Given the description of an element on the screen output the (x, y) to click on. 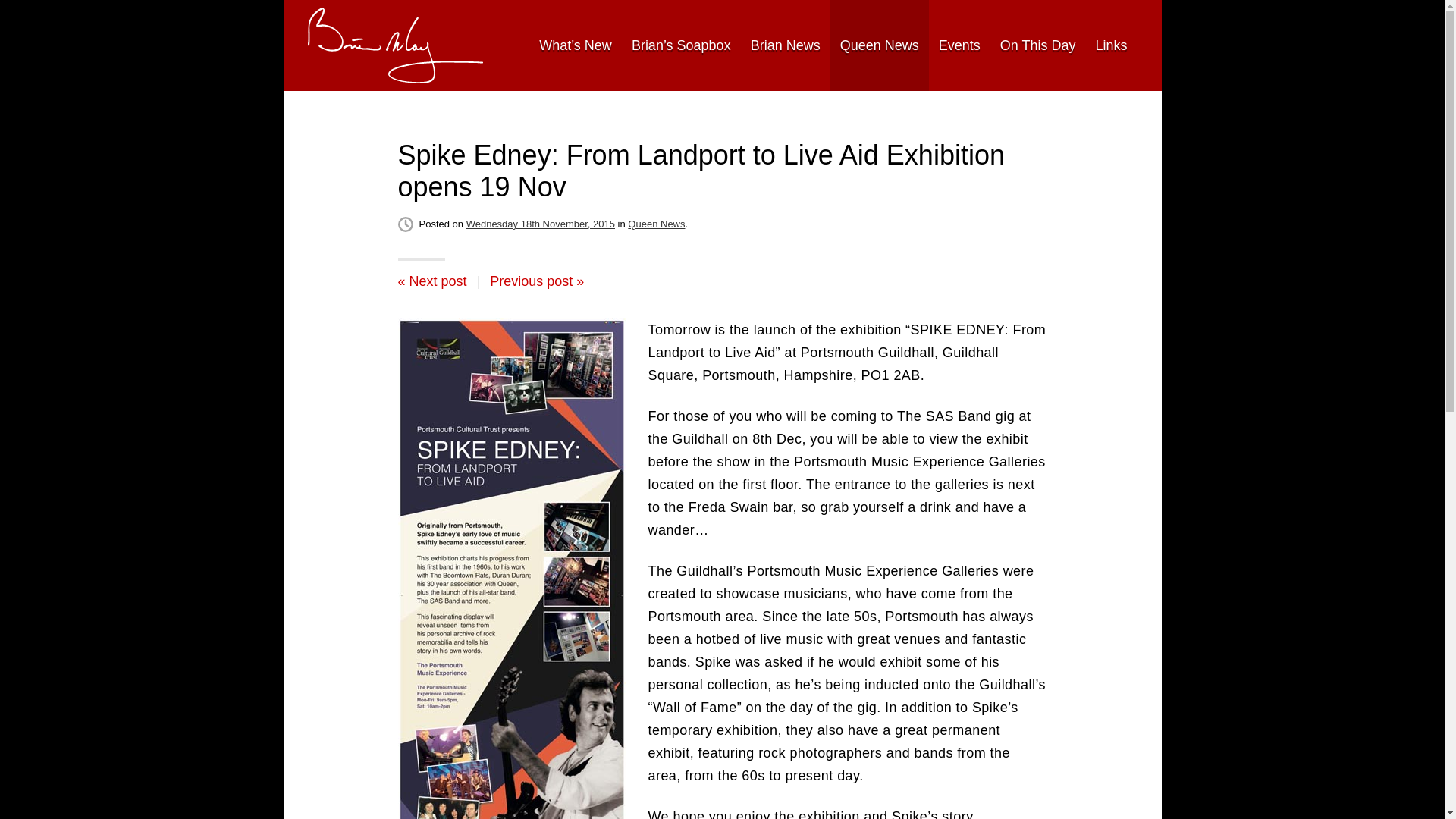
Skip to content (326, 45)
Bohemian Rhapsody piano solo live... standing ovation (536, 281)
Wednesday 18th November, 2015 (539, 224)
On This Day (1038, 45)
Queen News (655, 224)
Queen News (878, 45)
brianmay.com (395, 45)
Freddie Mercury Memorial Night 2015 - Vienna (431, 281)
Brian News (785, 45)
